Given the description of an element on the screen output the (x, y) to click on. 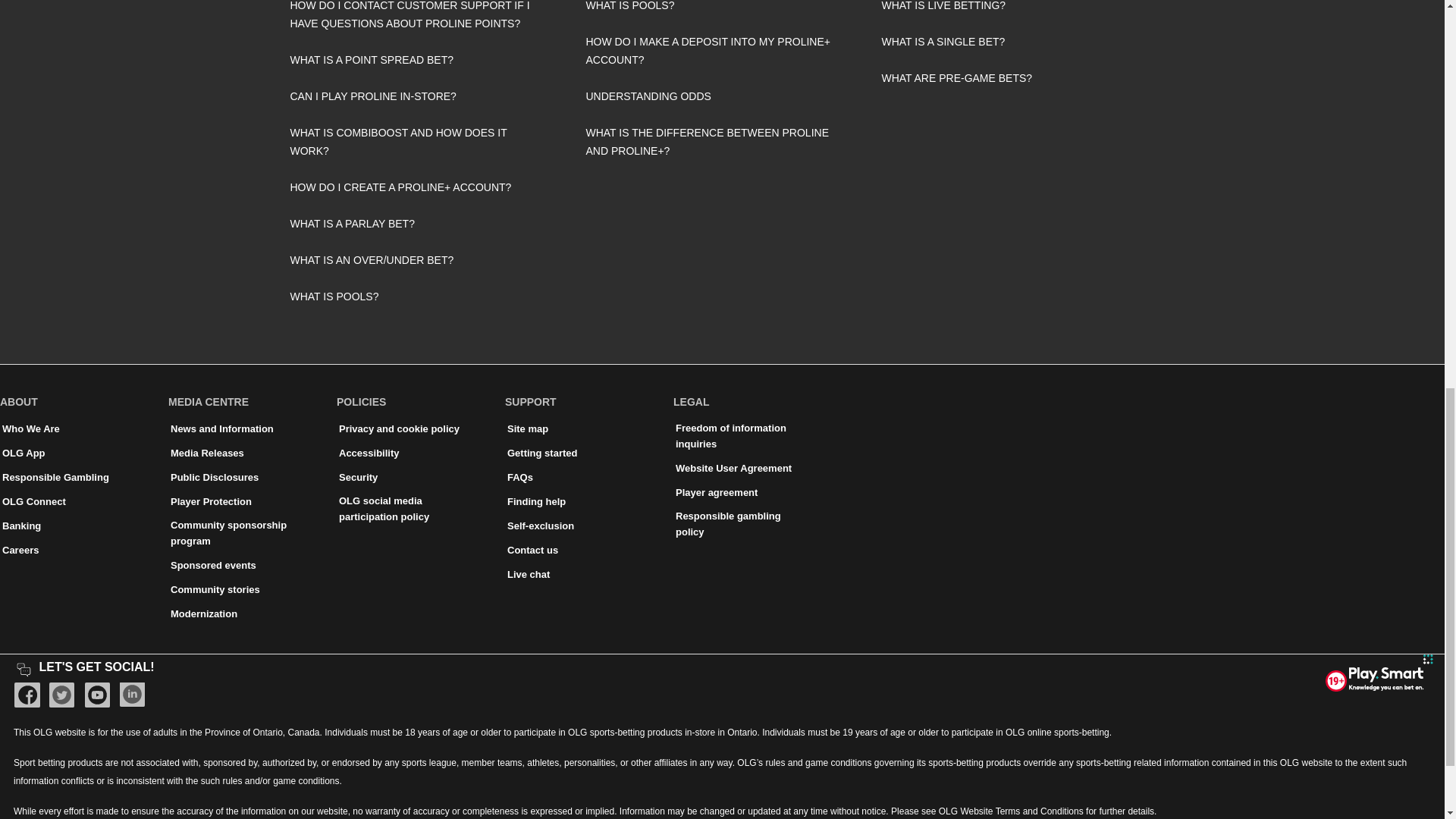
WHAT IS A POINT SPREAD BET? (425, 59)
WHAT IS POOLS? (722, 11)
CAN I PLAY PROLINE IN-STORE? (425, 95)
WHAT IS POOLS? (425, 296)
WHAT IS COMBIBOOST AND HOW DOES IT WORK? (425, 141)
WHAT IS A PARLAY BET? (425, 223)
